Given the description of an element on the screen output the (x, y) to click on. 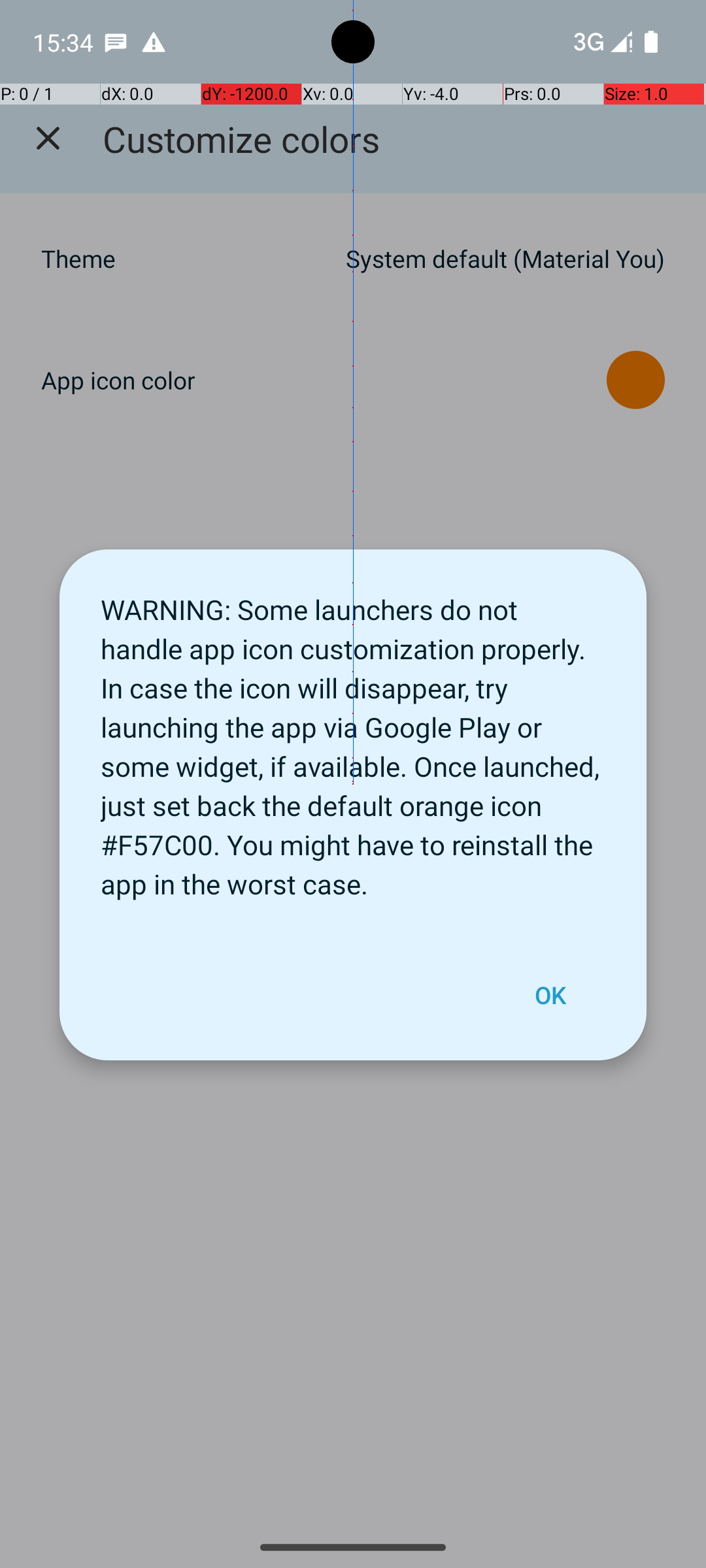
WARNING: Some launchers do not handle app icon customization properly. In case the icon will disappear, try launching the app via Google Play or some widget, if available. Once launched, just set back the default orange icon #F57C00. You might have to reinstall the app in the worst case. Element type: android.widget.TextView (352, 739)
